Given the description of an element on the screen output the (x, y) to click on. 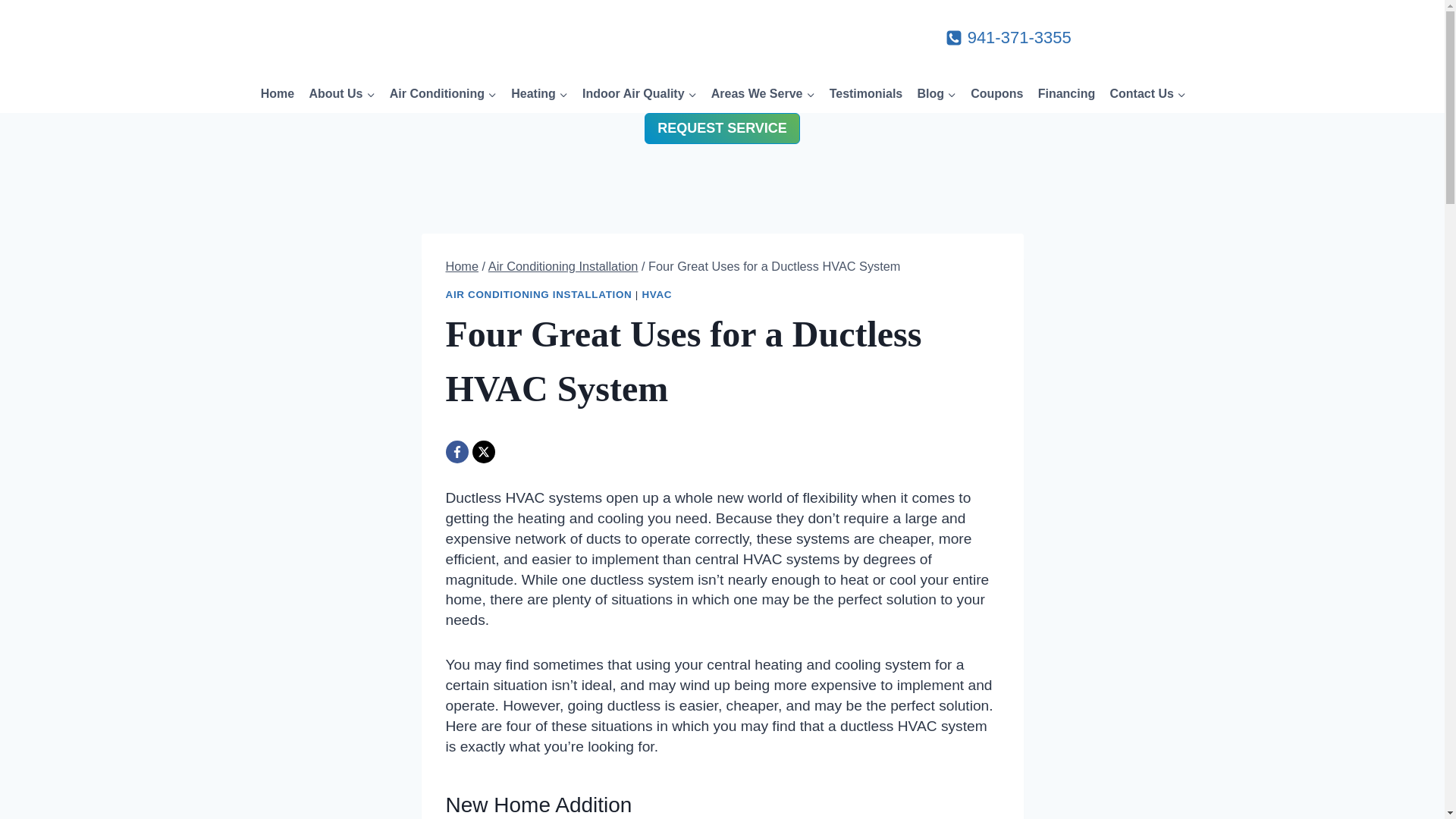
About Us (341, 93)
Testimonials (866, 93)
Indoor Air Quality (639, 93)
Home (277, 93)
Heating (539, 93)
941-371-3355 (1007, 37)
Blog (936, 93)
Air Conditioning (442, 93)
Areas We Serve (762, 93)
